Given the description of an element on the screen output the (x, y) to click on. 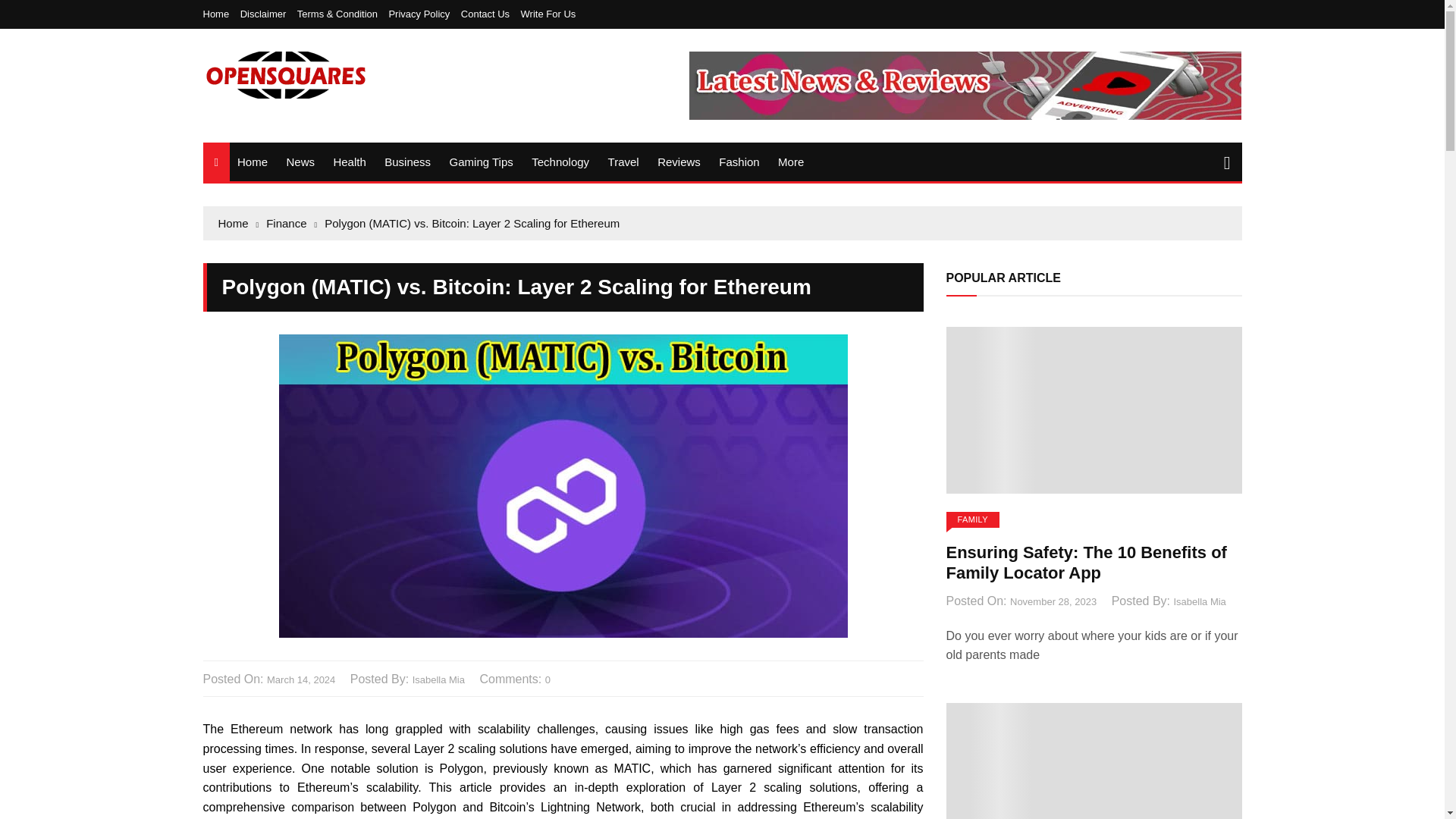
Contact Us (488, 13)
Write For Us (548, 13)
Privacy Policy (422, 13)
News (299, 161)
Disclaimer (267, 13)
Travel (622, 161)
Technology (560, 161)
Home (252, 161)
Home (220, 13)
Business (407, 161)
Reviews (678, 161)
Fashion (739, 161)
Health (348, 161)
Gaming Tips (481, 161)
